Given the description of an element on the screen output the (x, y) to click on. 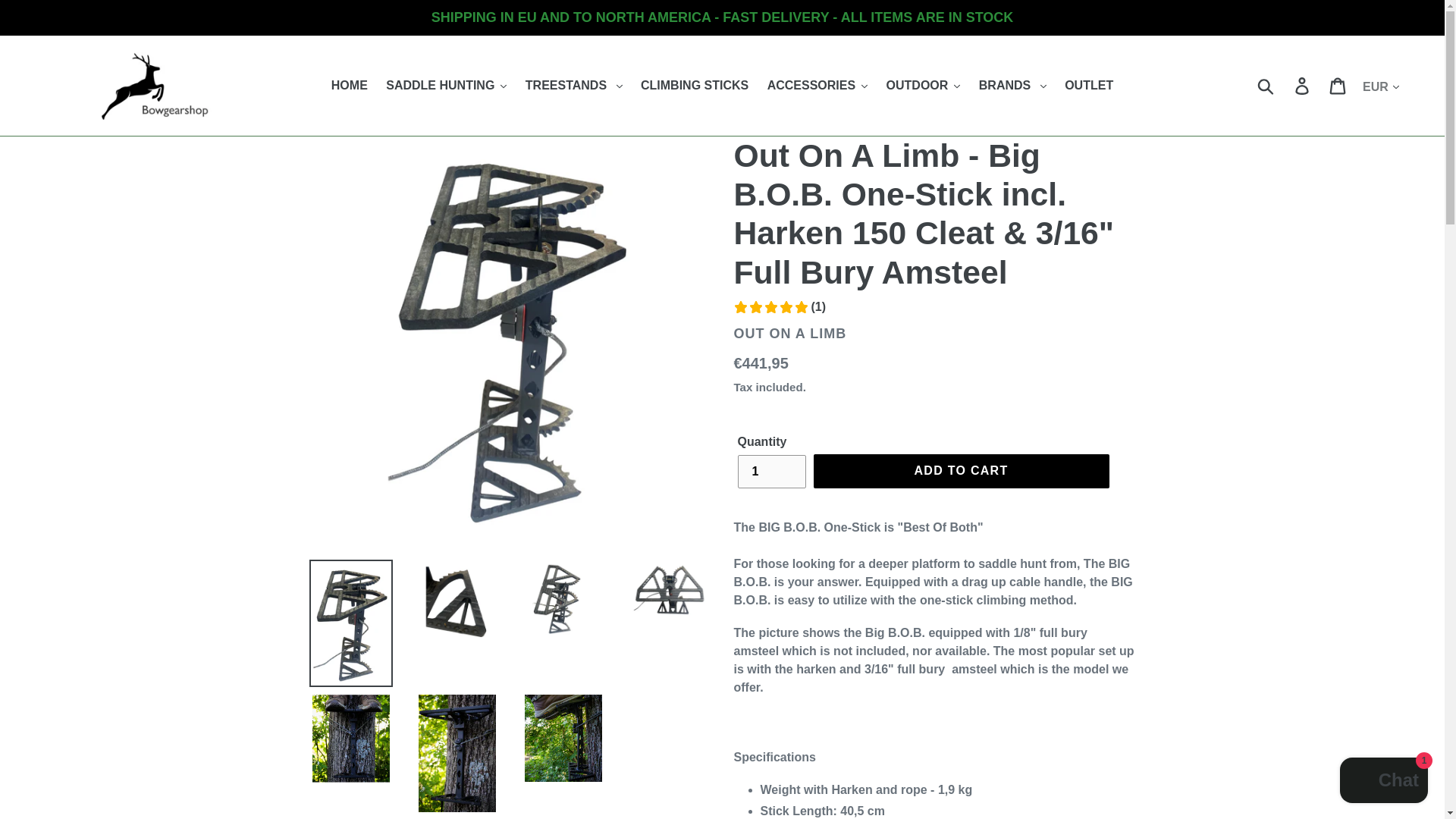
HOME (349, 85)
1 (770, 471)
CLIMBING STICKS (694, 85)
Shopify online store chat (1383, 781)
